Given the description of an element on the screen output the (x, y) to click on. 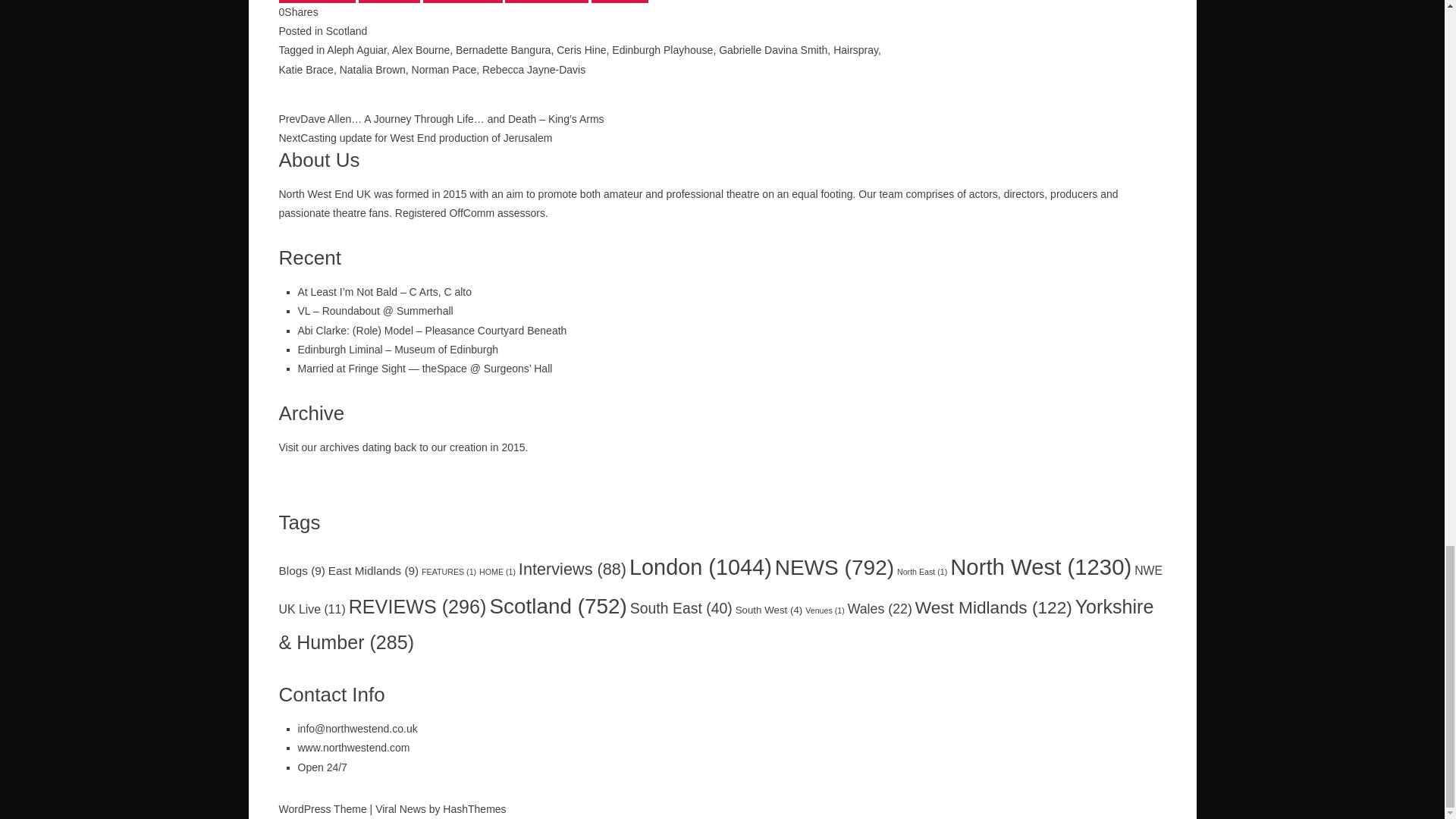
Email (619, 1)
Twitter (389, 1)
Alex Bourne (420, 50)
Download Viral News (400, 808)
Facebook (317, 1)
Scotland (346, 30)
Bernadette Bangura (502, 50)
Messenger (546, 1)
WhatsApp (462, 1)
Aleph Aguiar (356, 50)
